Given the description of an element on the screen output the (x, y) to click on. 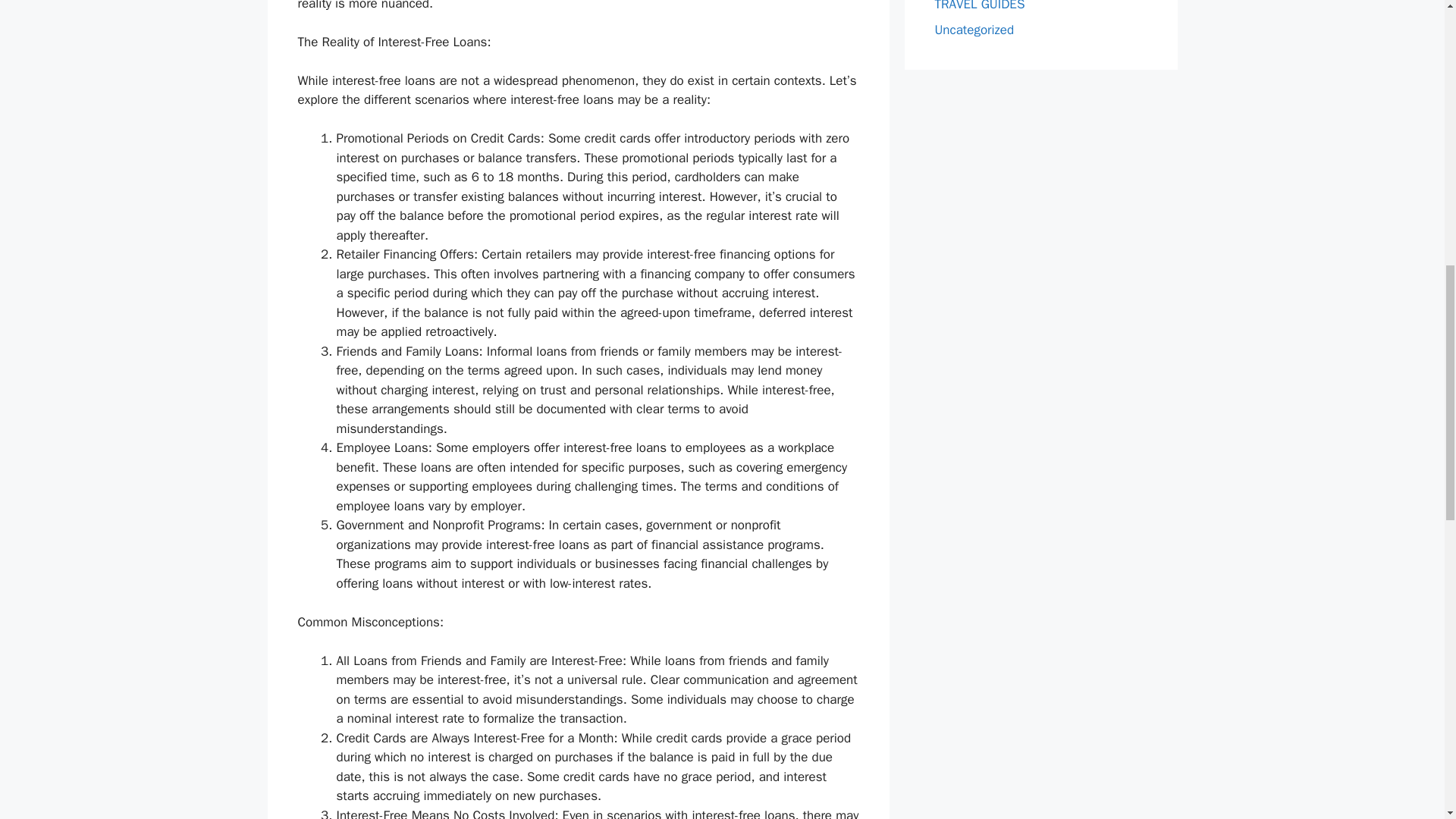
Uncategorized (973, 28)
TRAVEL GUIDES (979, 5)
